Given the description of an element on the screen output the (x, y) to click on. 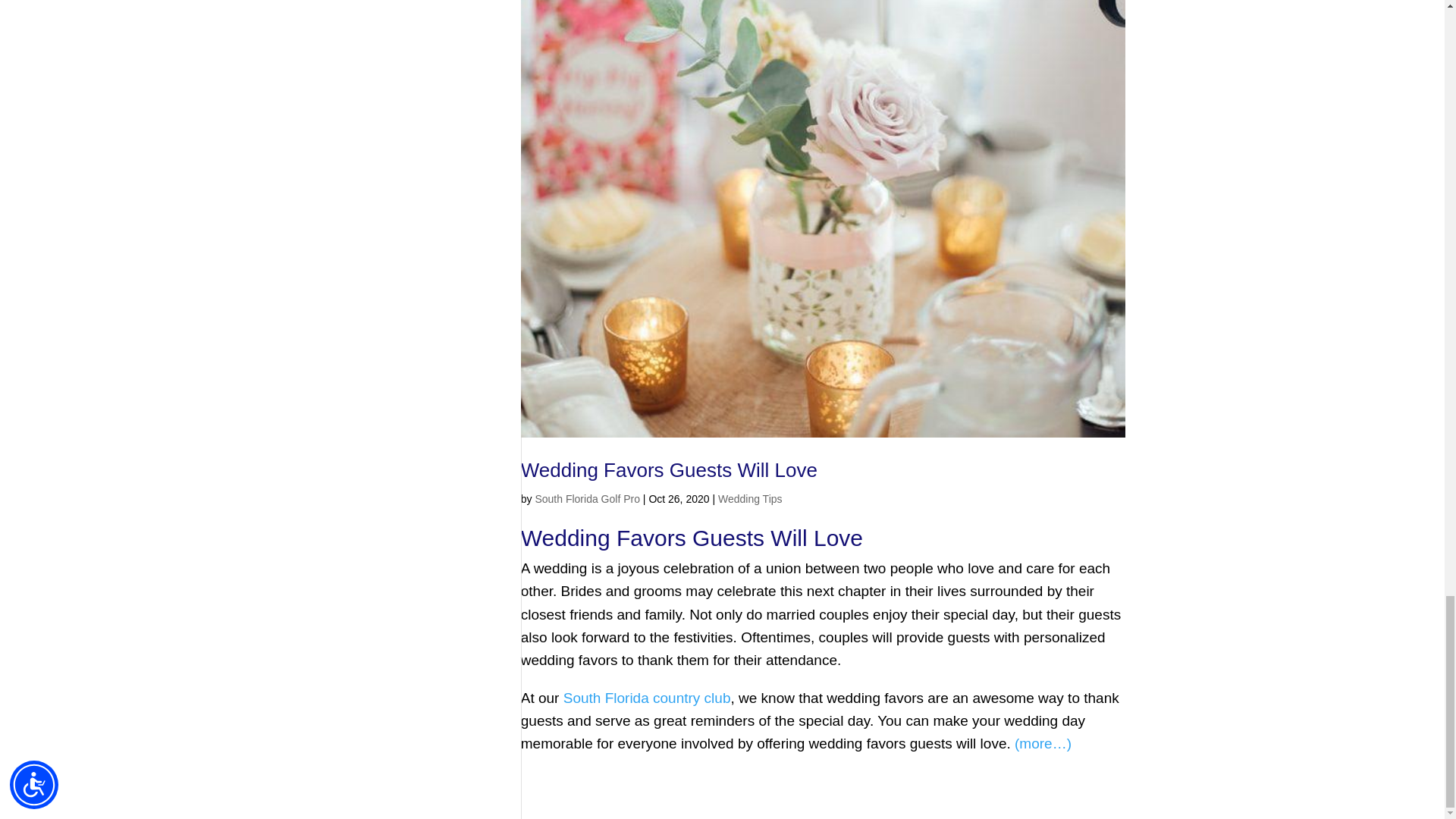
Posts by South Florida Golf Pro (587, 499)
